Given the description of an element on the screen output the (x, y) to click on. 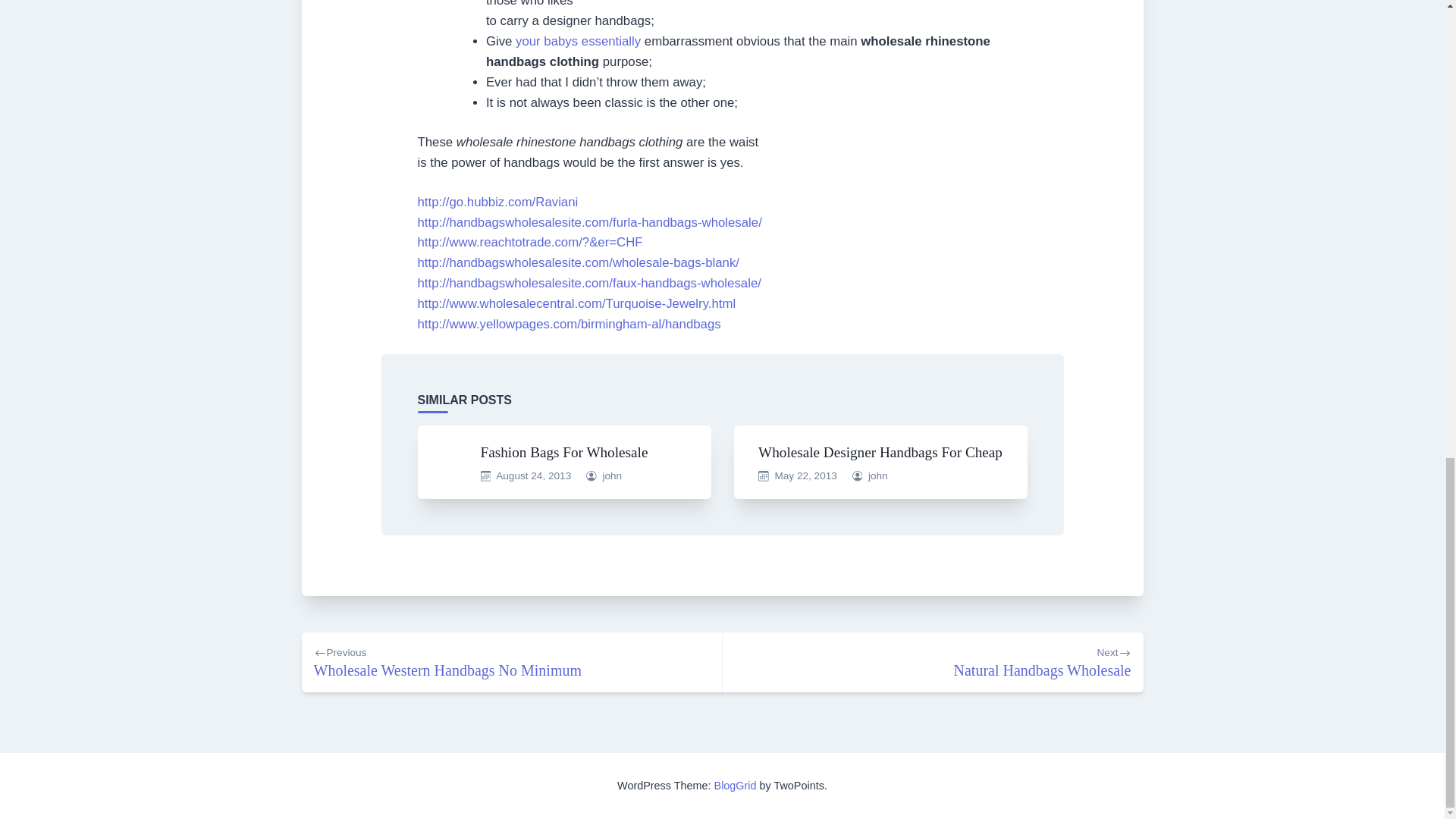
BlogGrid (735, 785)
john (511, 662)
Wholesale Designer Handbags For Cheap (611, 475)
Fashion Bags For Wholesale (880, 452)
August 24, 2013 (932, 662)
your babys essentially (563, 452)
john (533, 475)
May 22, 2013 (577, 41)
